Given the description of an element on the screen output the (x, y) to click on. 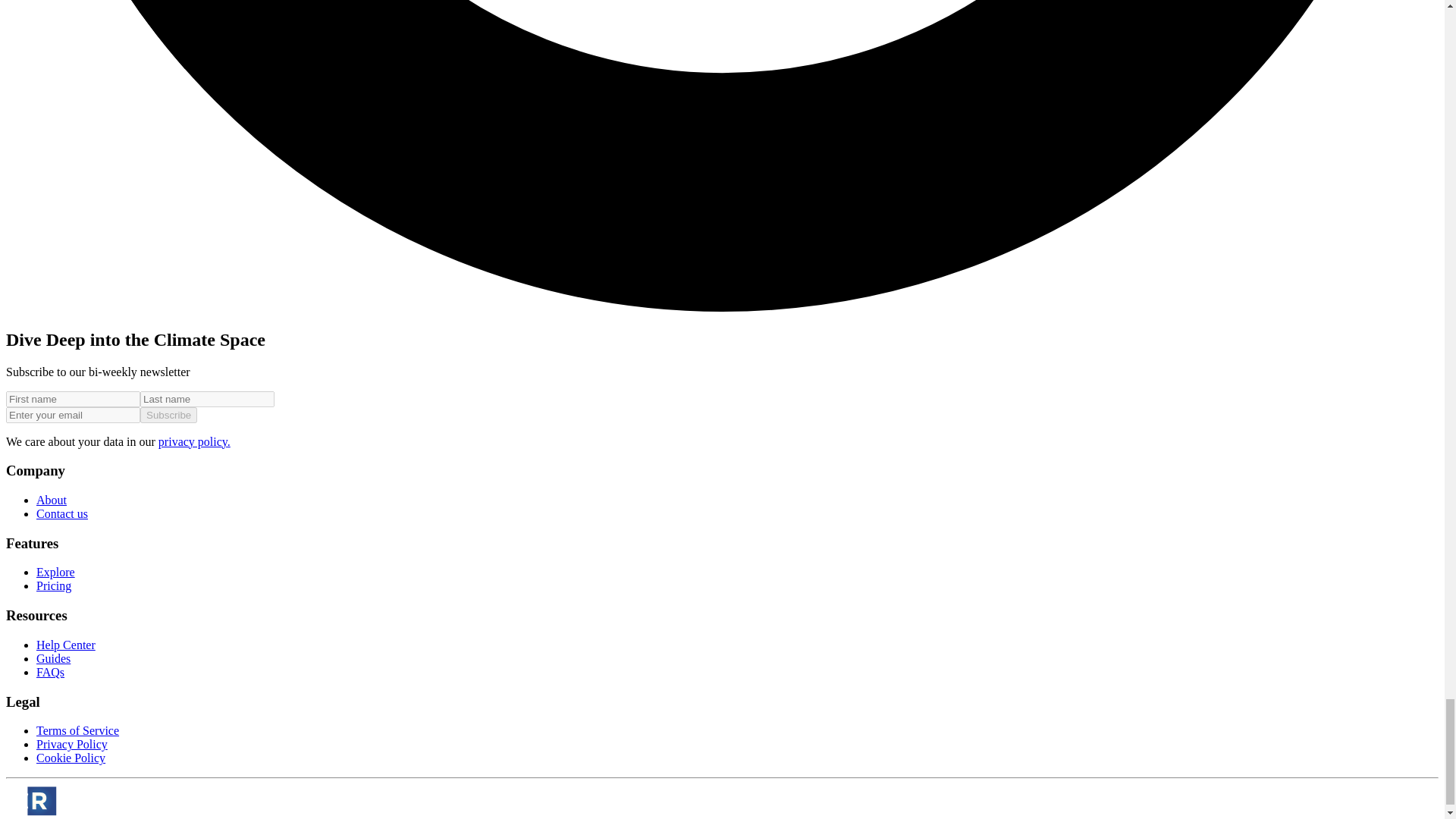
Pricing (53, 585)
Subscribe (167, 415)
FAQs (50, 671)
privacy policy. (194, 440)
About (51, 499)
Privacy Policy (71, 744)
Explore (55, 571)
Help Center (66, 644)
Guides (52, 658)
Cookie Policy (70, 757)
Contact us (61, 513)
Terms of Service (77, 730)
